Given the description of an element on the screen output the (x, y) to click on. 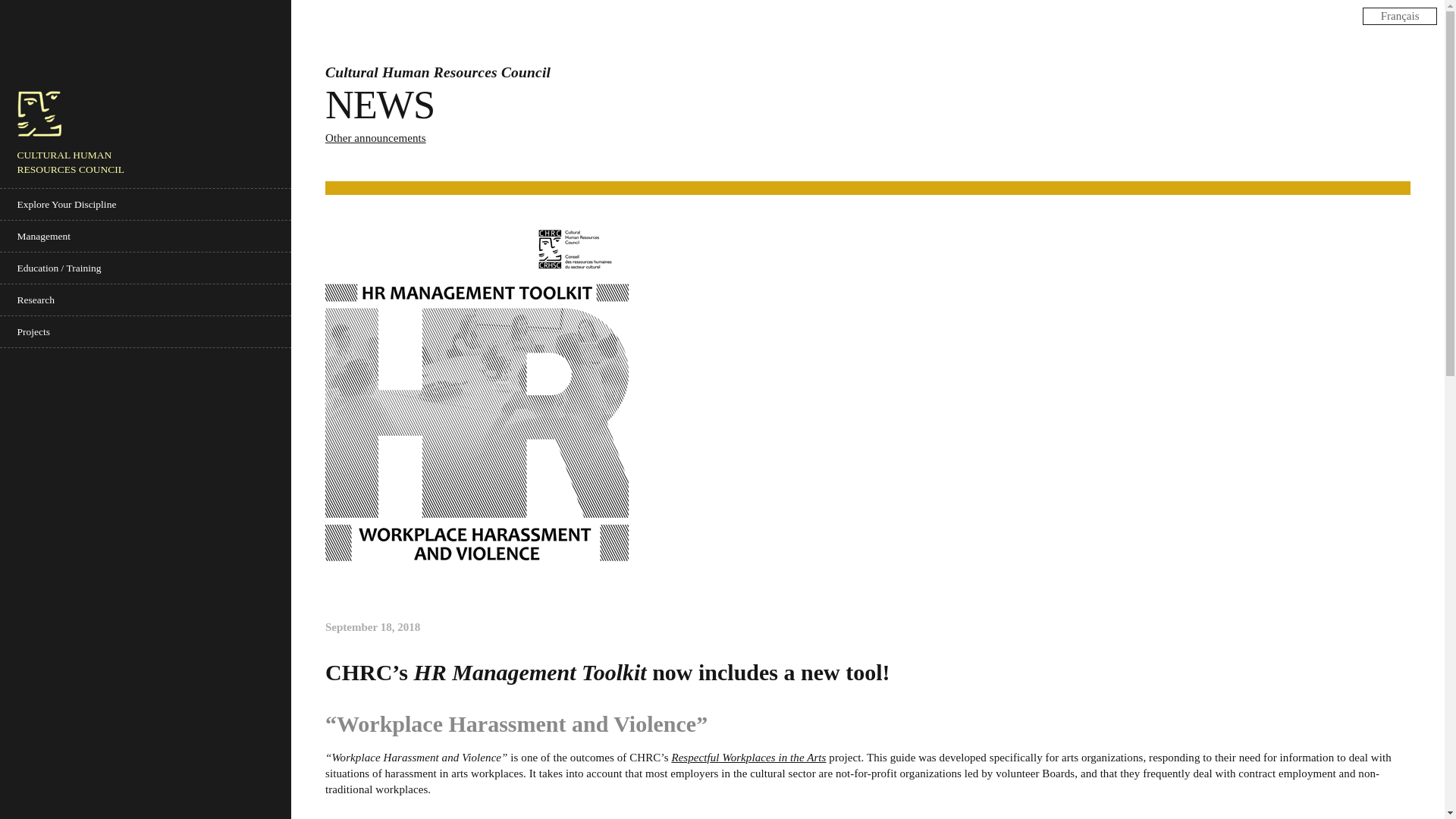
Respectful Workplaces in the Arts (145, 267)
Talent to Lead (145, 331)
Film and Television (145, 235)
Young Canada Works (145, 363)
Digital Media (145, 204)
CULTURAL HUMAN RESOURCES COUNCIL (85, 139)
Live Performing Arts (145, 441)
Writing and Publishing (145, 395)
Film and Broadcasting (145, 377)
Writing and Publishing (145, 536)
Music and Sound Recording (145, 331)
Heritage (145, 267)
Labour Market Information (145, 299)
Music and Sound Recording (145, 472)
